Given the description of an element on the screen output the (x, y) to click on. 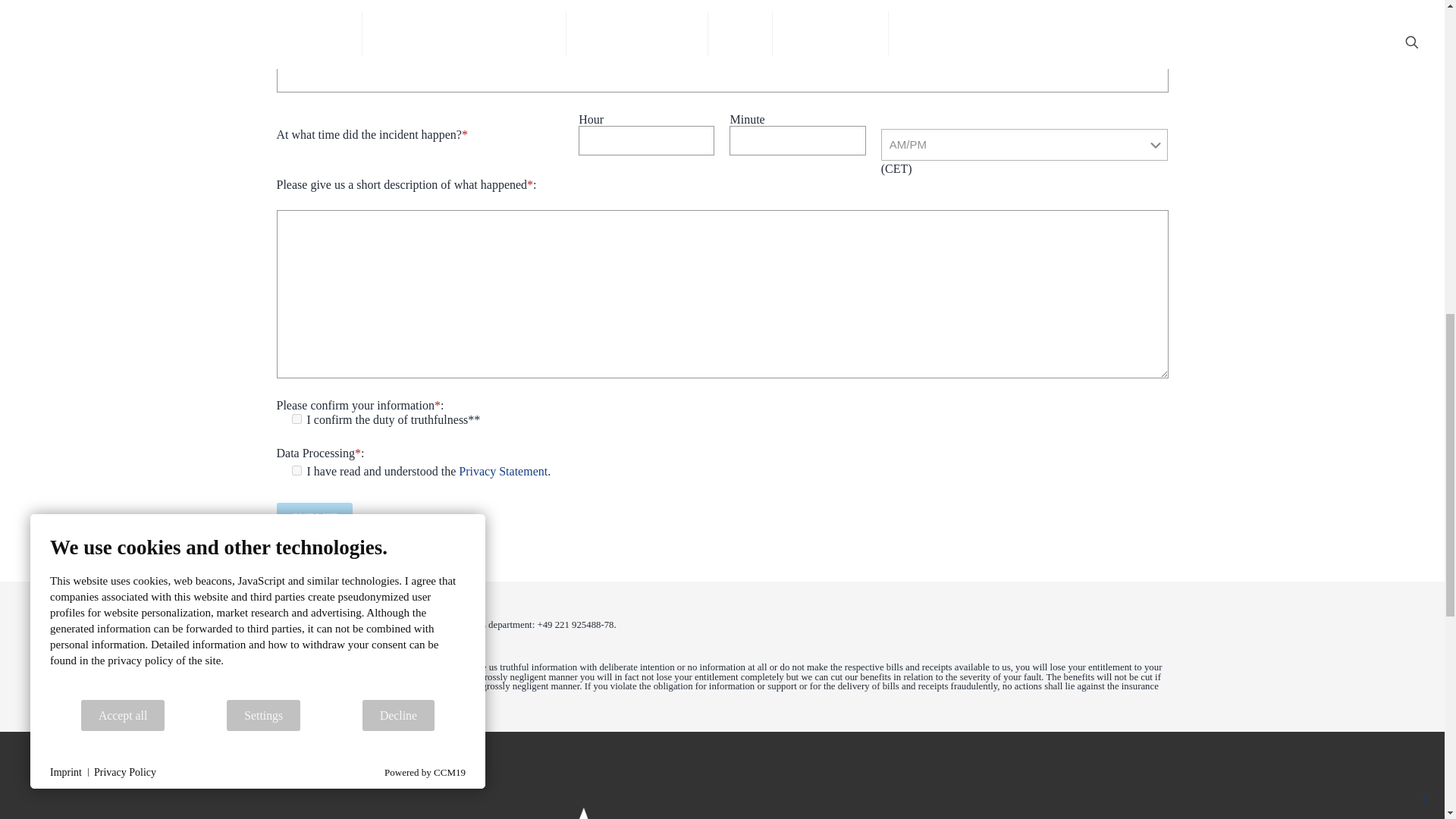
Privacy Statement (502, 471)
SUBMIT (314, 517)
1 (296, 470)
SUBMIT (314, 517)
